Given the description of an element on the screen output the (x, y) to click on. 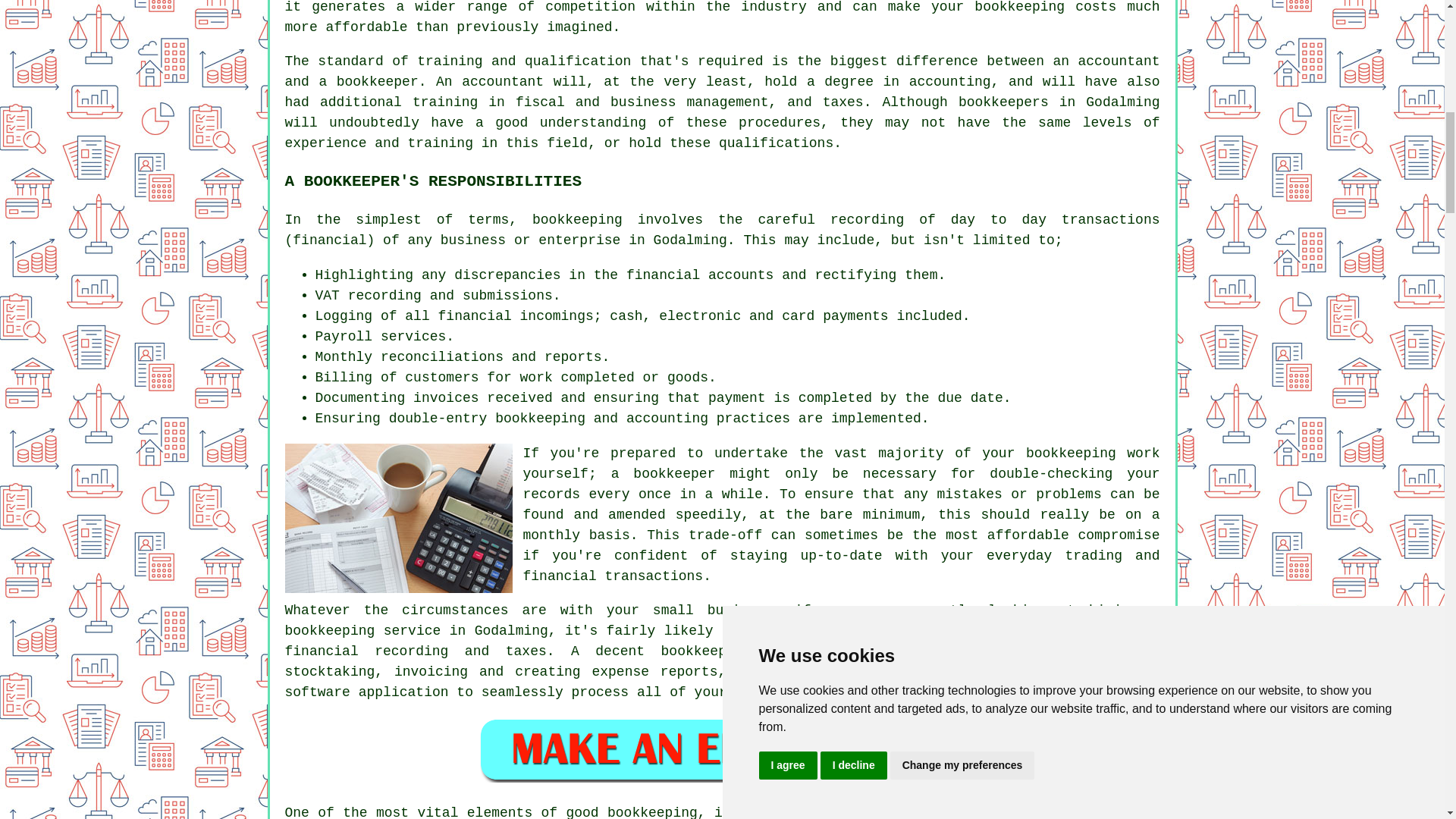
Bookkeeping Enquiries in Godalming Surrey (722, 748)
bookkeepers (1003, 102)
accountant (502, 81)
